Given the description of an element on the screen output the (x, y) to click on. 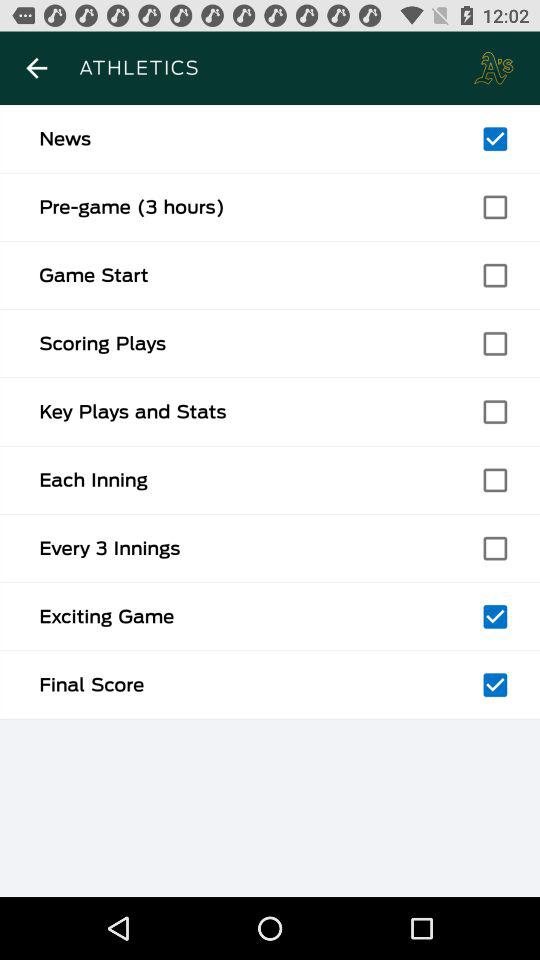
score exciting game (495, 616)
